Given the description of an element on the screen output the (x, y) to click on. 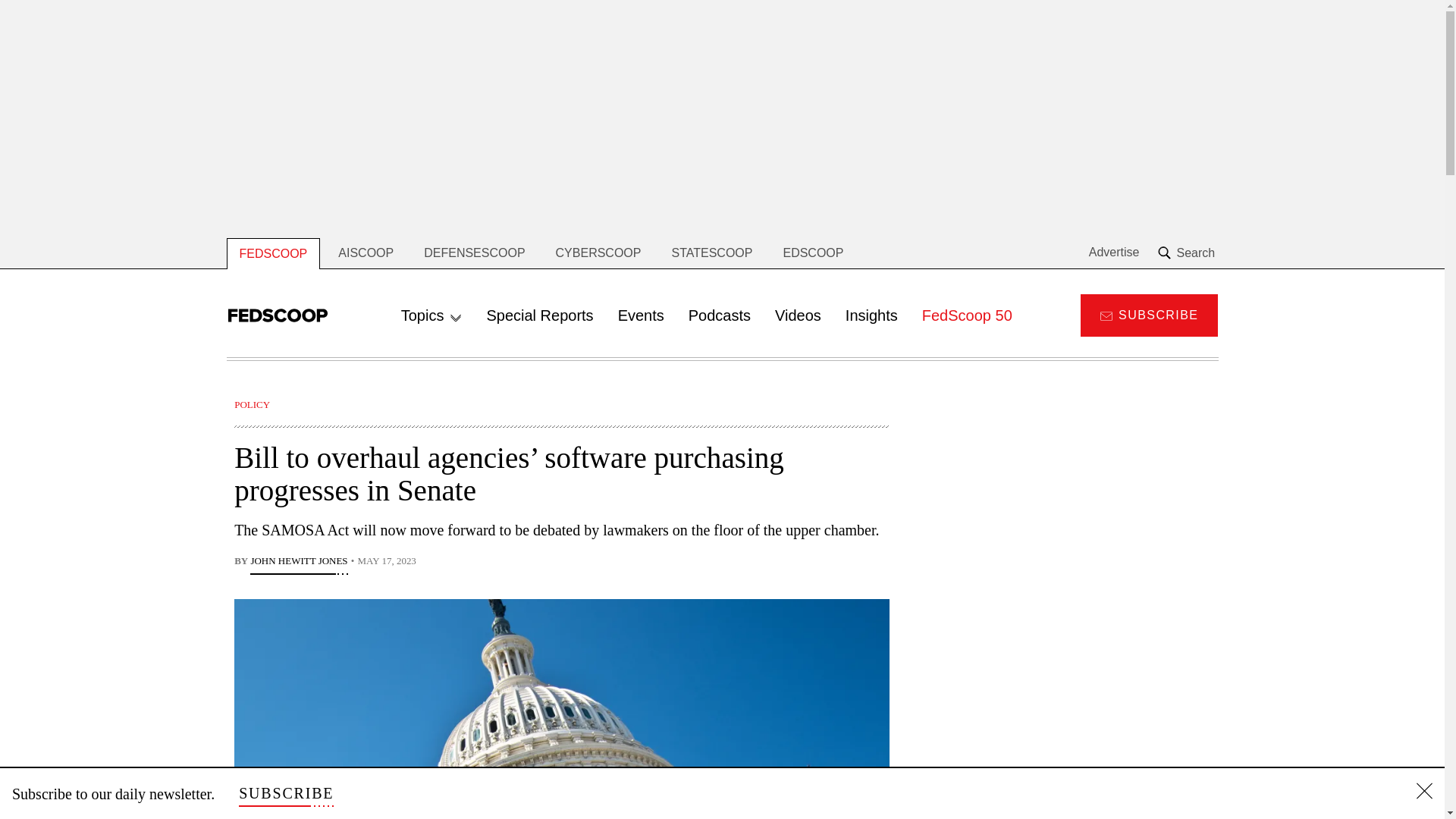
Search (1187, 252)
FedScoop 50 (967, 315)
Topics (431, 315)
AISCOOP (366, 253)
Advertise (1114, 252)
STATESCOOP (711, 253)
Insights (871, 315)
POLICY (251, 404)
FEDSCOOP (272, 253)
CYBERSCOOP (598, 253)
EDSCOOP (813, 253)
Events (641, 315)
Special Reports (539, 315)
Podcasts (719, 315)
